Given the description of an element on the screen output the (x, y) to click on. 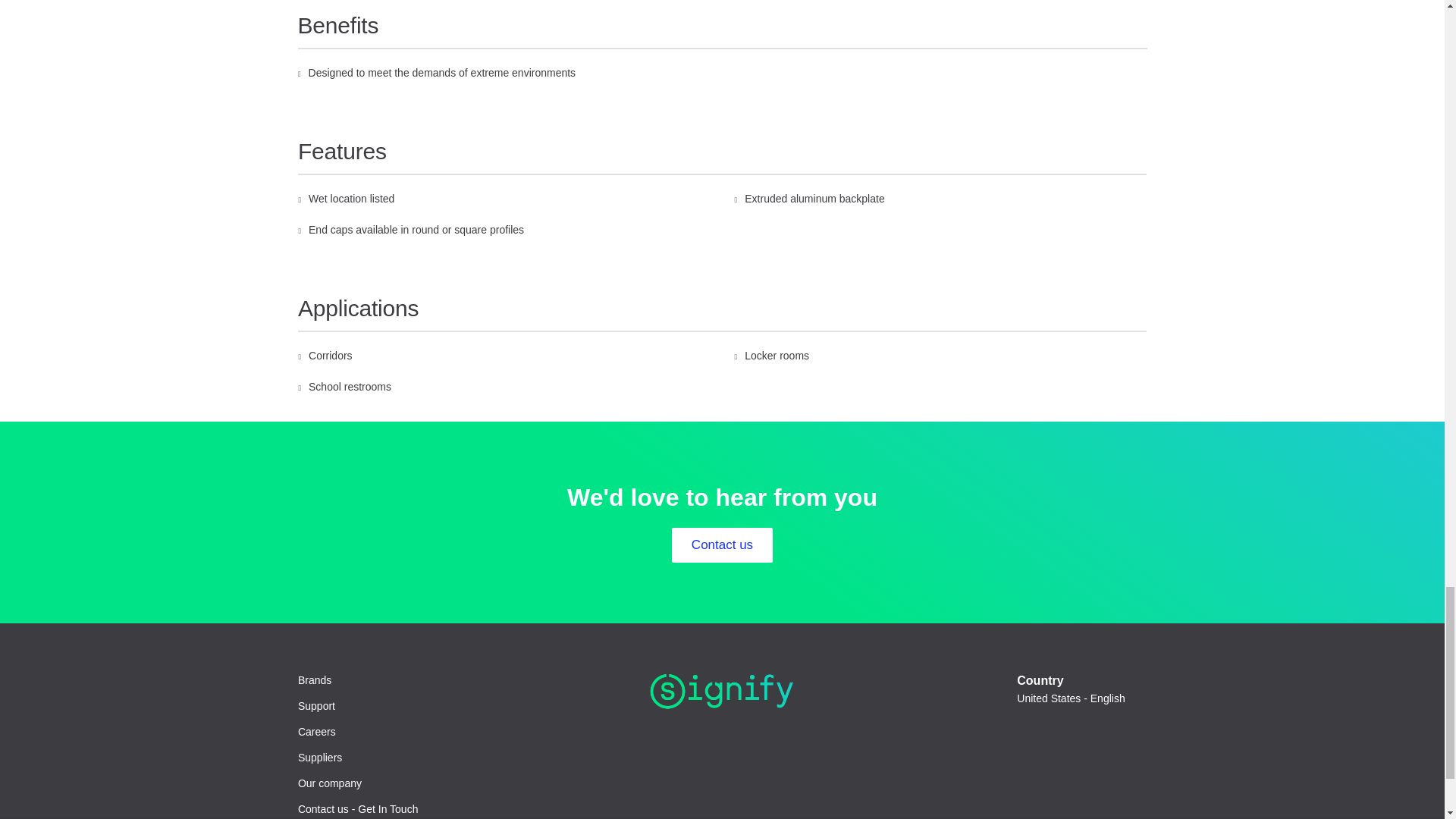
Support (316, 706)
Contact us - Get In Touch (358, 809)
Careers (317, 731)
Country (1077, 698)
Contact us (722, 544)
Suppliers (320, 757)
Our company (329, 783)
Brands (314, 680)
Signify logo (721, 691)
